Given the description of an element on the screen output the (x, y) to click on. 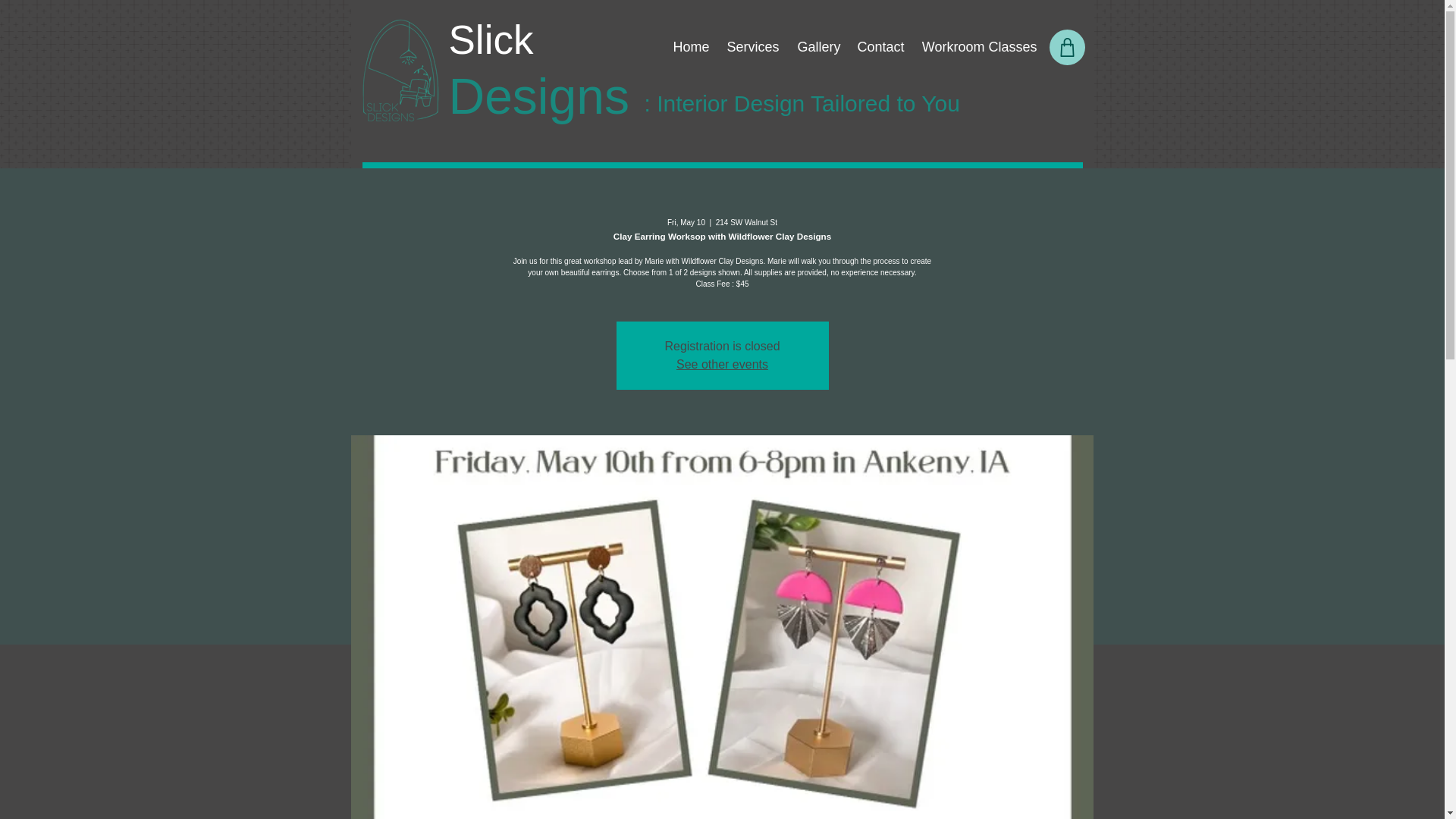
Contact (879, 47)
Designs (538, 99)
Services (752, 47)
See other events (722, 364)
Slick (491, 39)
Workroom Classes (977, 47)
Gallery (817, 47)
Home (689, 47)
